Given the description of an element on the screen output the (x, y) to click on. 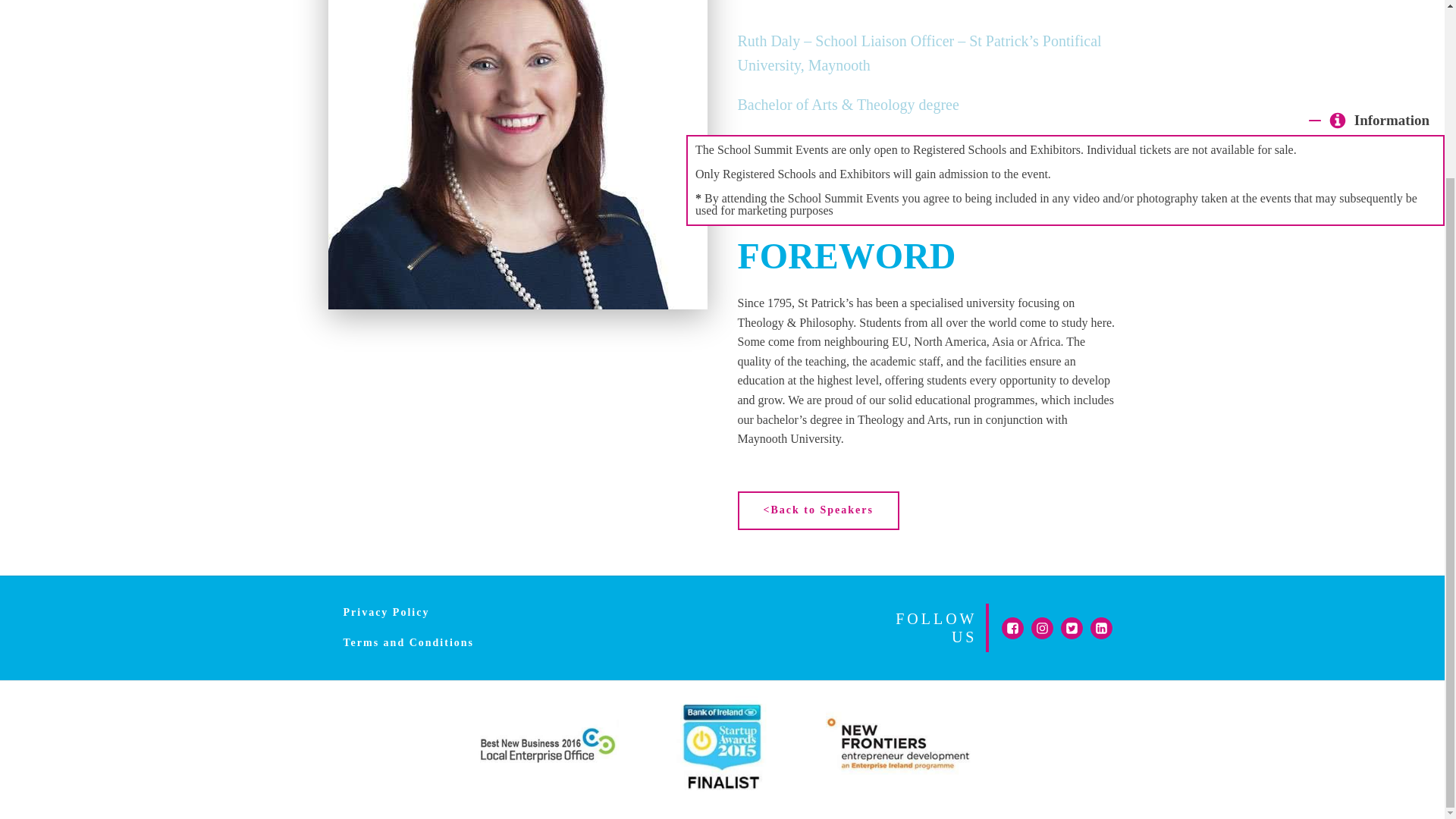
Privacy Policy (385, 612)
Terms and Conditions (408, 643)
